Given the description of an element on the screen output the (x, y) to click on. 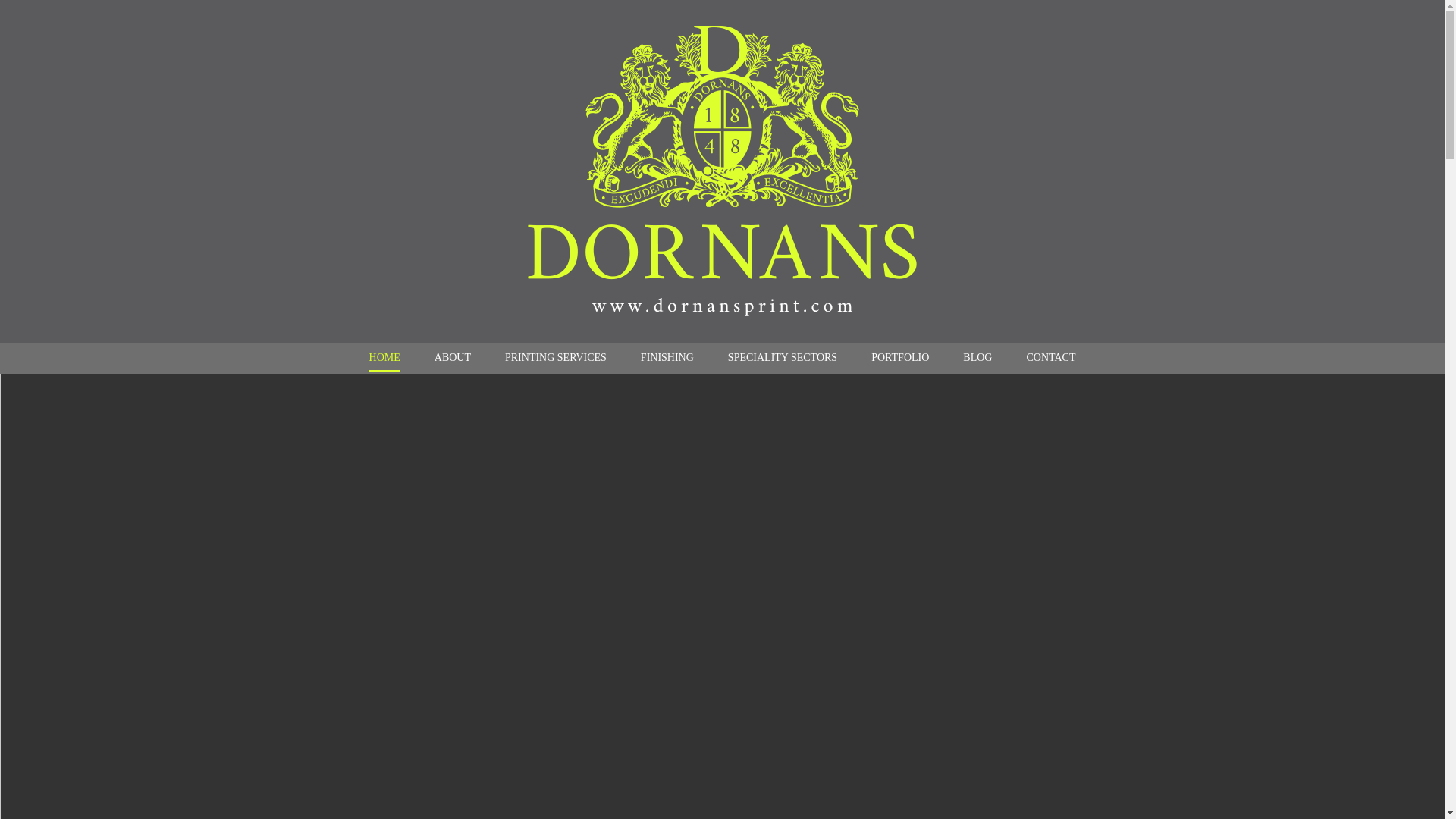
PORTFOLIO (899, 358)
CONTACT (1050, 358)
ABOUT (451, 358)
HOME (384, 358)
SPECIALITY SECTORS (782, 358)
FINISHING (667, 358)
BLOG (976, 358)
PRINTING SERVICES (556, 358)
